Given the description of an element on the screen output the (x, y) to click on. 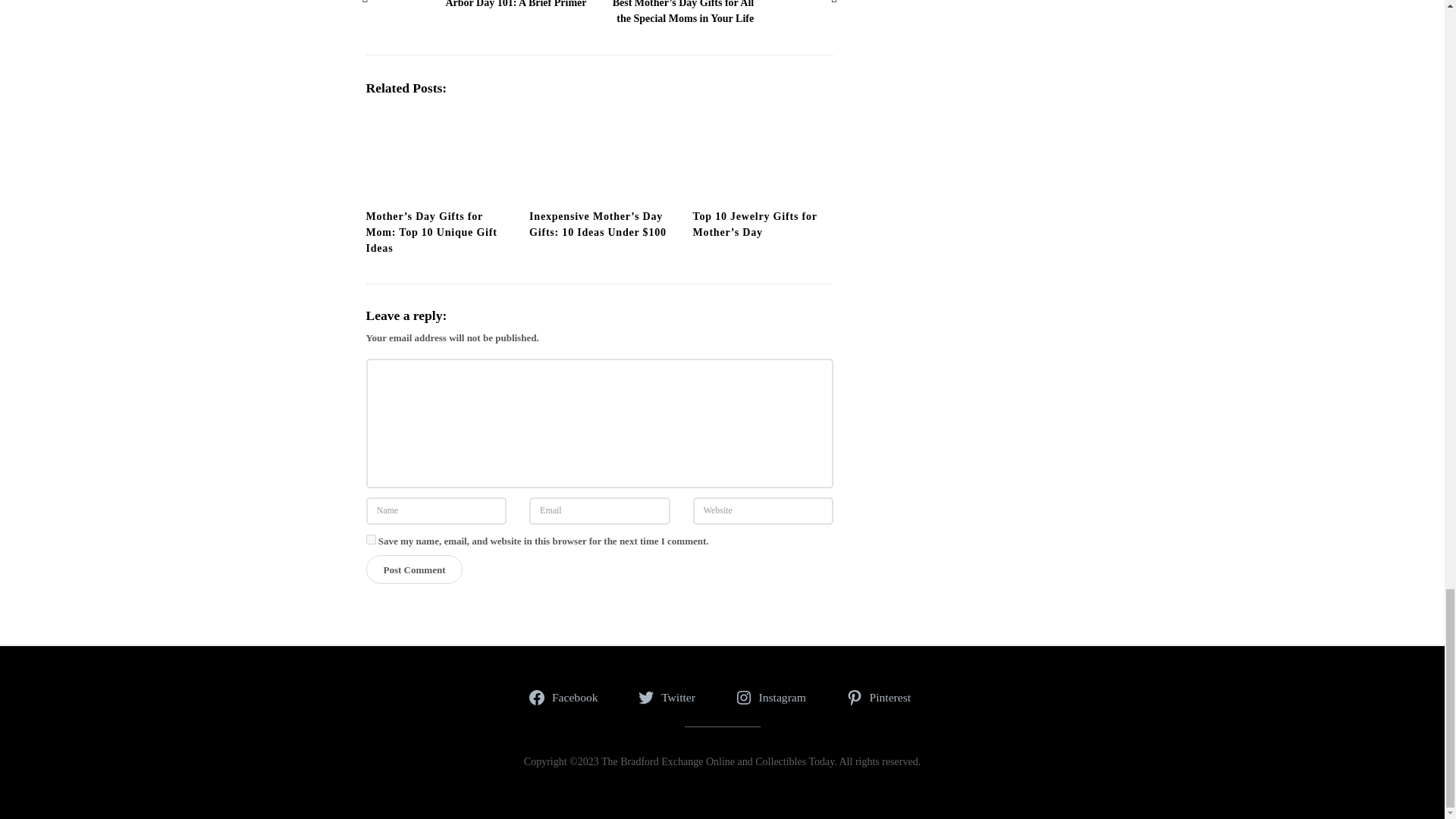
yes (370, 539)
Arbor Day 101: A Brief Primer (407, 9)
Post Comment (414, 569)
